Given the description of an element on the screen output the (x, y) to click on. 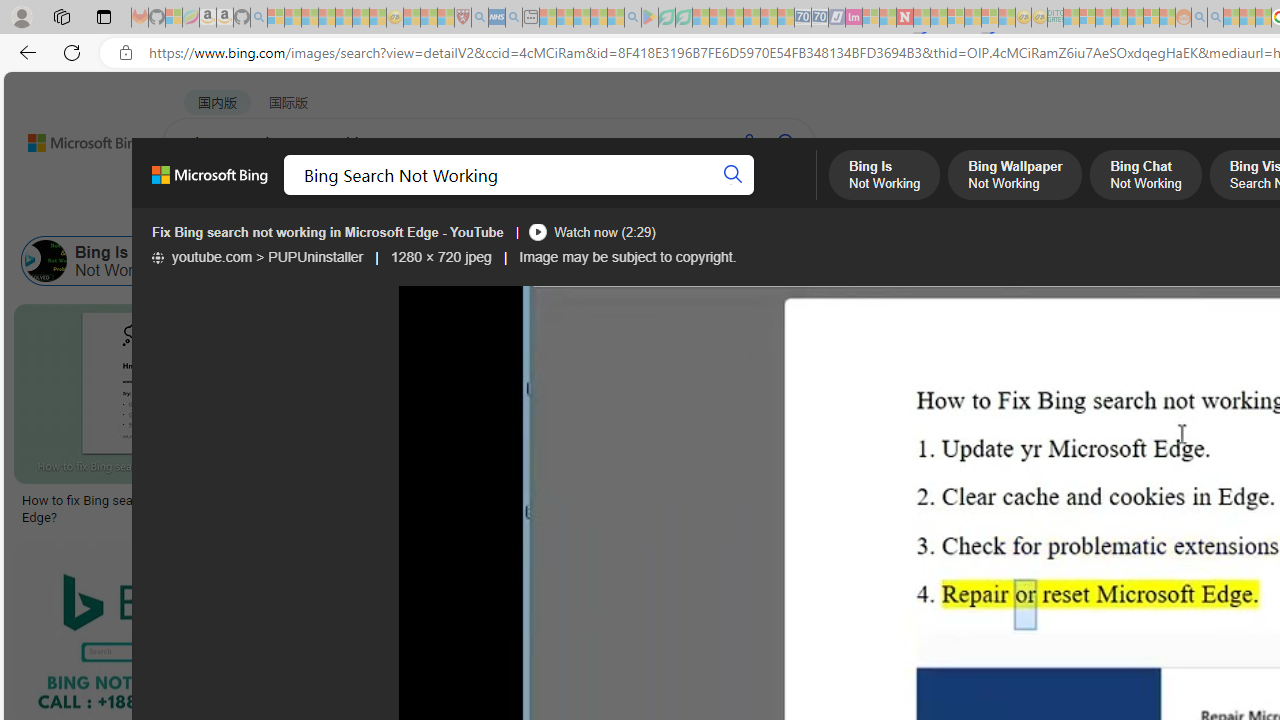
How to fix Bing search not working in Microsoft Edge? (169, 508)
Back to Bing search (73, 138)
3:53 (297, 558)
